Given the description of an element on the screen output the (x, y) to click on. 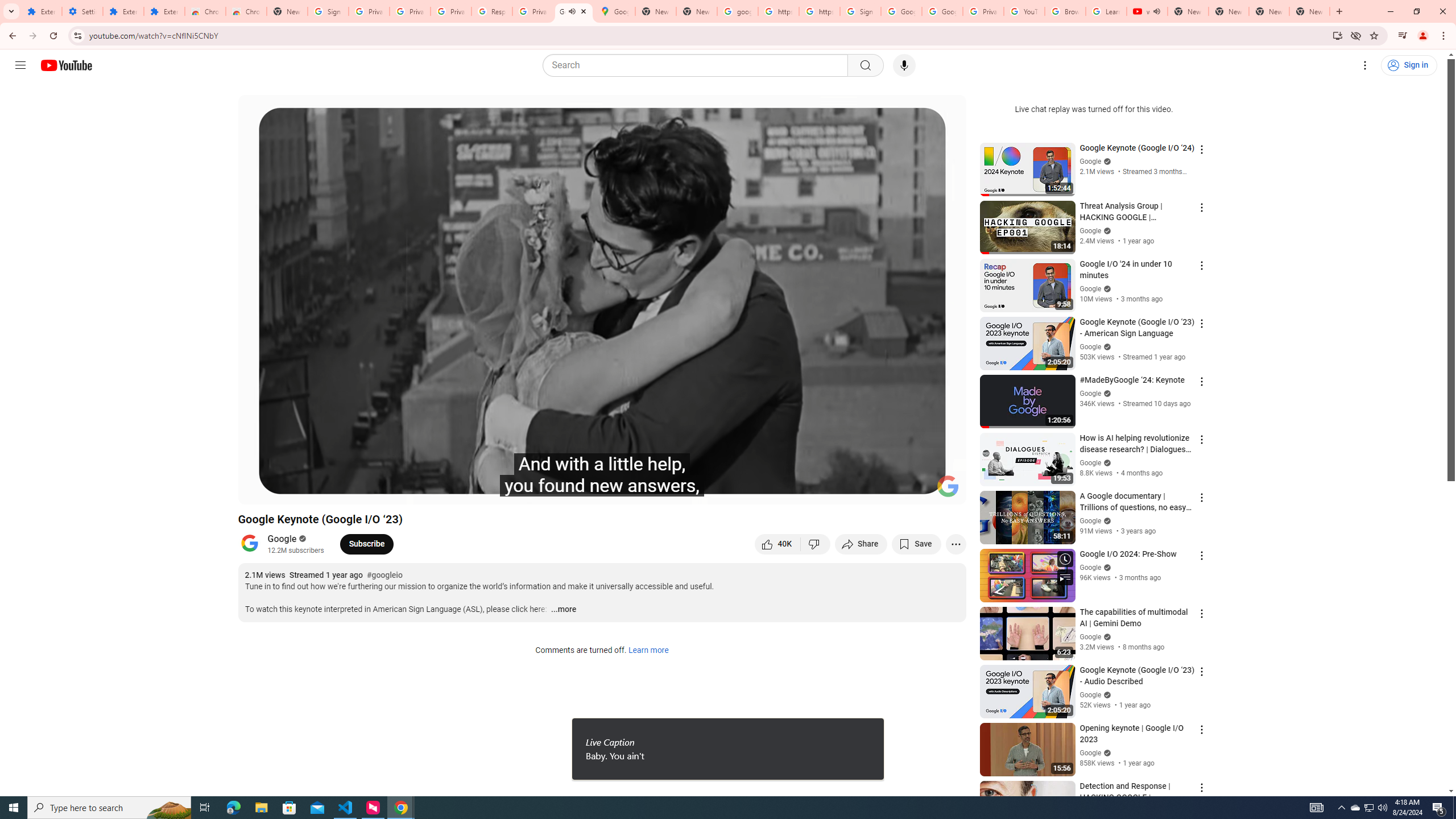
Extensions (163, 11)
Chrome Web Store (205, 11)
#googleio (384, 575)
Extensions (41, 11)
